Given the description of an element on the screen output the (x, y) to click on. 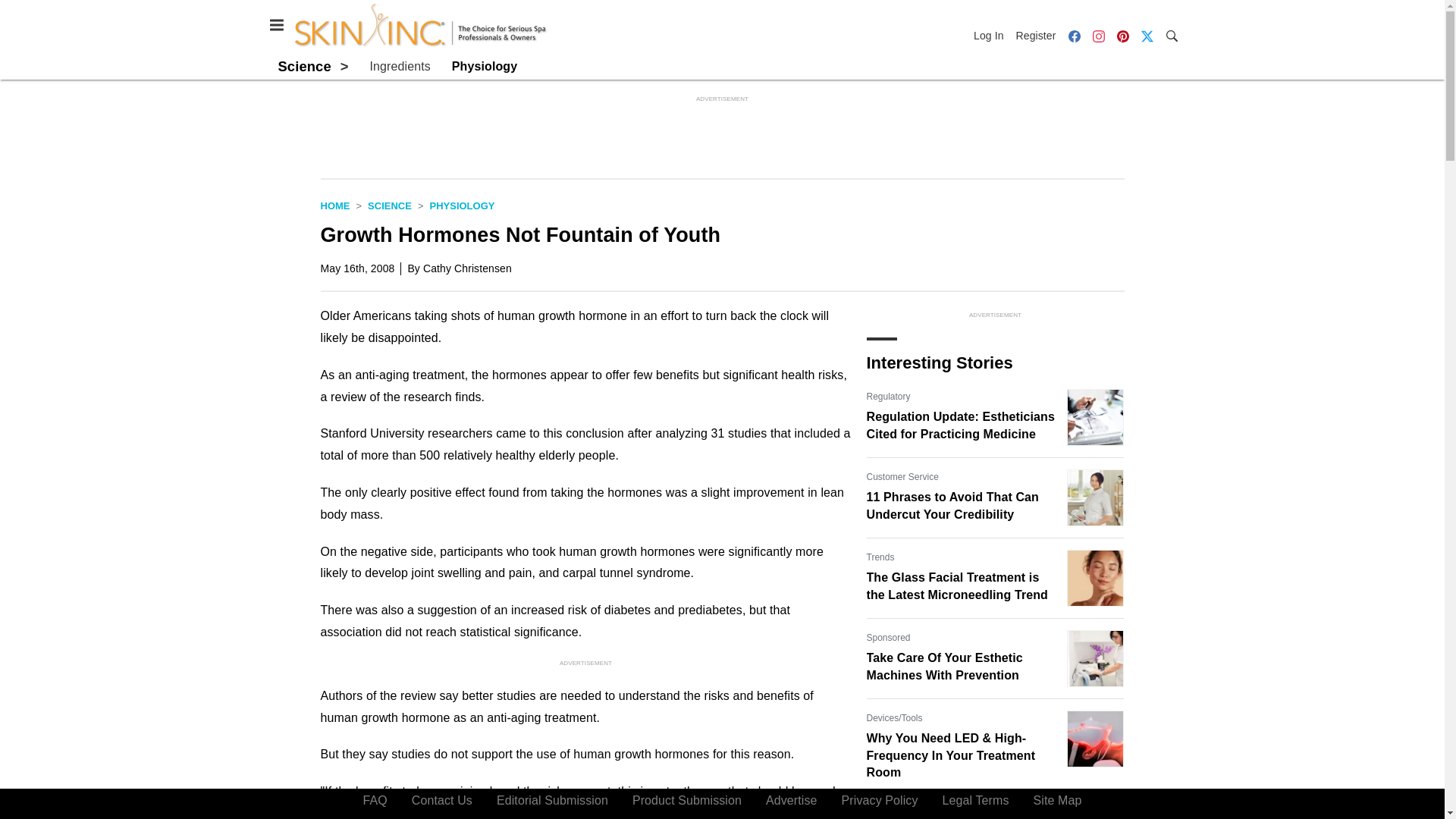
Twitter X icon (1146, 36)
Pinterest icon (1122, 36)
Pinterest icon (1121, 35)
Sponsored (888, 637)
HOME (334, 205)
Physiology (462, 205)
Log In (992, 35)
SCIENCE (390, 205)
Search (1170, 34)
Science (304, 65)
